Given the description of an element on the screen output the (x, y) to click on. 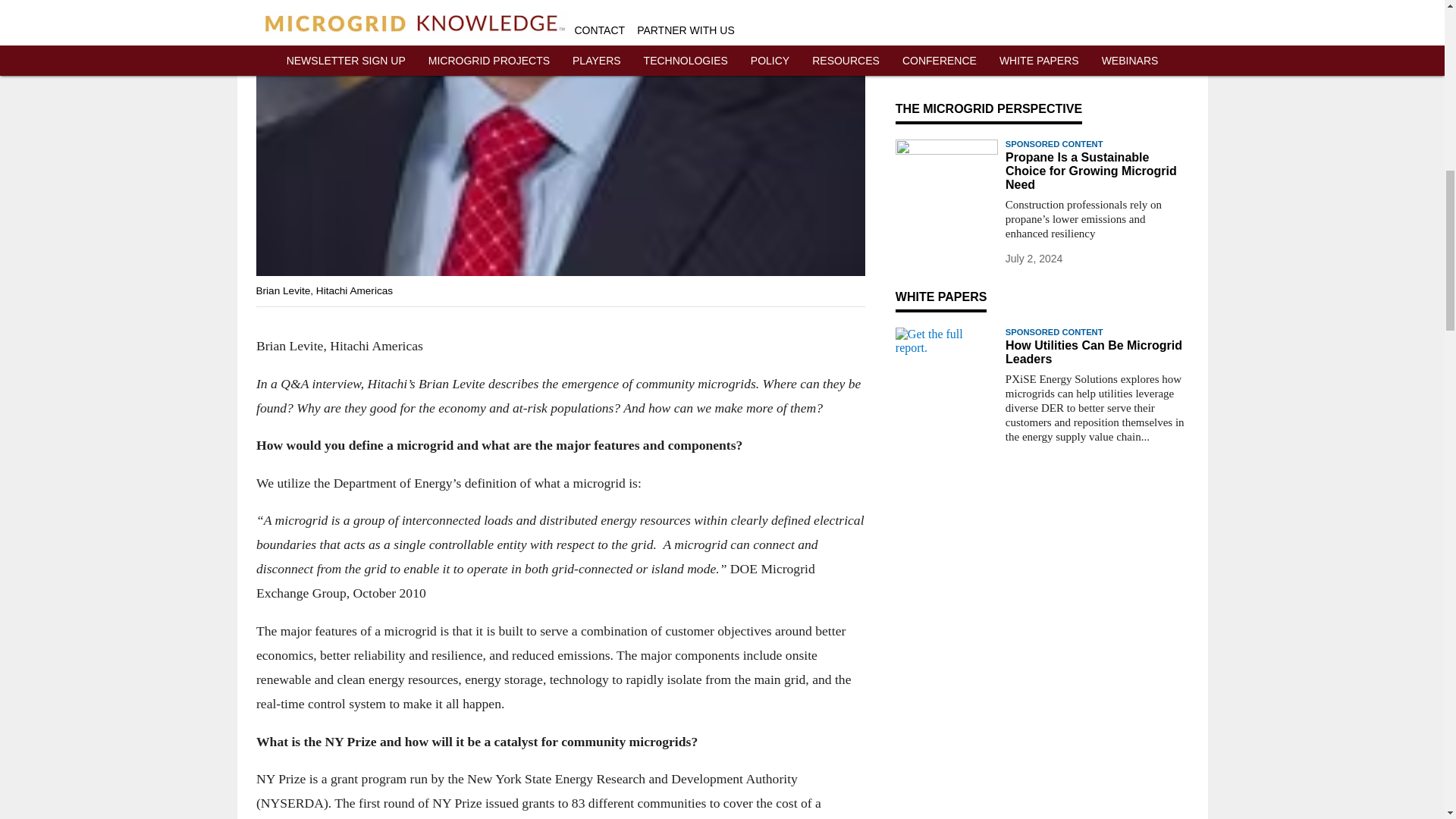
THE MICROGRID PERSPECTIVE (988, 108)
Jackson Emc Microgrid (946, 3)
Aerial Ro Ro Pier 10 2023 (946, 47)
Get the full report. (946, 355)
How Utilities Can Be Microgrid Leaders (1097, 352)
Propane Is a Sustainable Choice for Growing Microgrid Need (1097, 170)
WHITE PAPERS (941, 296)
